Given the description of an element on the screen output the (x, y) to click on. 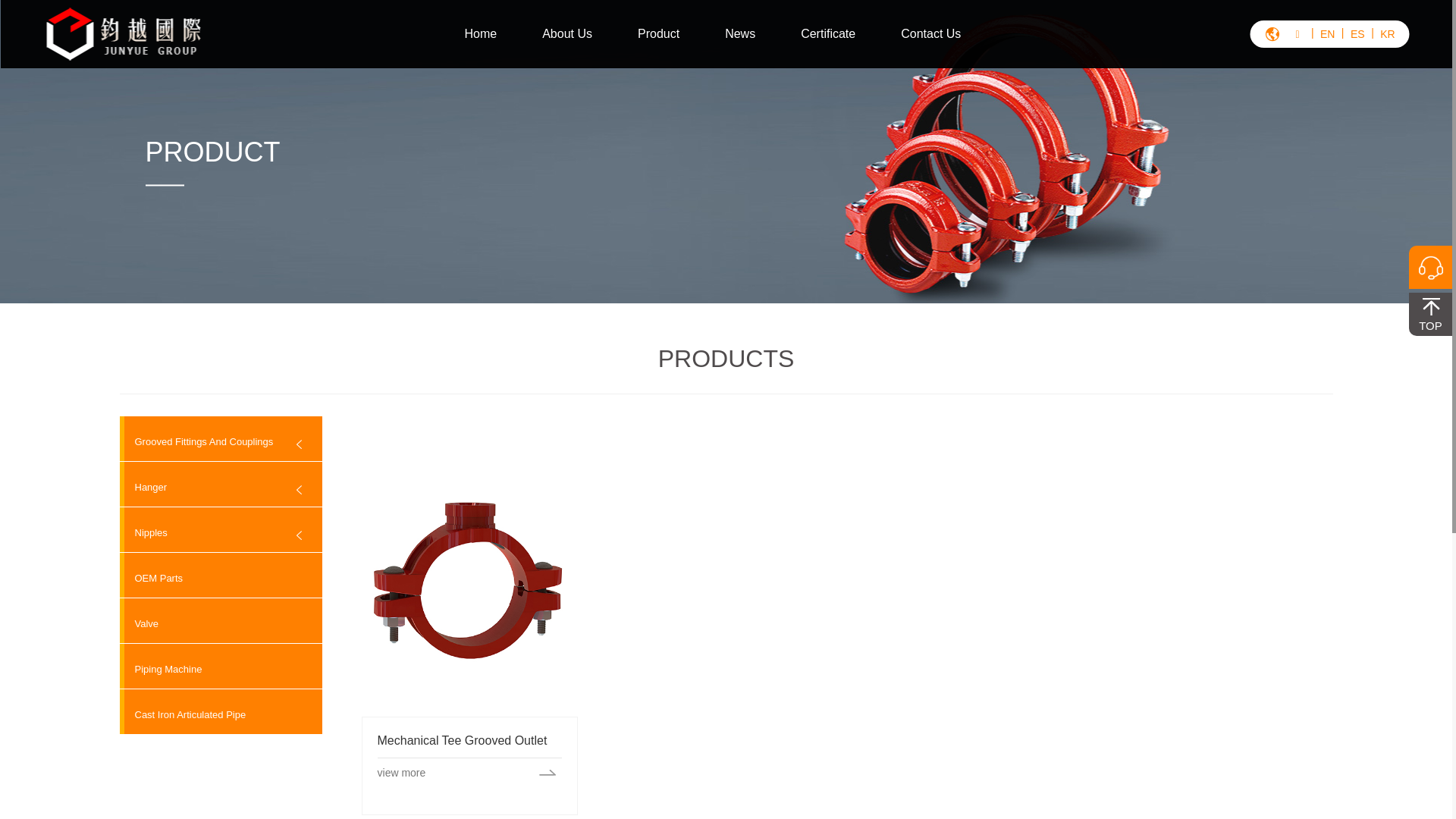
Nipples Element type: text (143, 532)
Home Element type: text (480, 34)
Certificate Element type: text (827, 34)
Contact Us Element type: text (930, 34)
Cast Iron Articulated Pipe Element type: text (182, 714)
Product Element type: text (658, 34)
Hanger Element type: text (143, 486)
Piping Machine Element type: text (160, 668)
News Element type: text (739, 34)
Grooved Fittings And Couplings Element type: text (196, 441)
OEM Parts Element type: text (151, 577)
ES Element type: text (1357, 33)
view more Element type: text (469, 771)
ENTER Element type: text (1374, 85)
Mechanical Tee Grooved Outlet Element type: hover (469, 579)
About Us Element type: text (567, 34)
Valve Element type: text (139, 623)
KR Element type: text (1387, 33)
EN Element type: text (1327, 33)
